Given the description of an element on the screen output the (x, y) to click on. 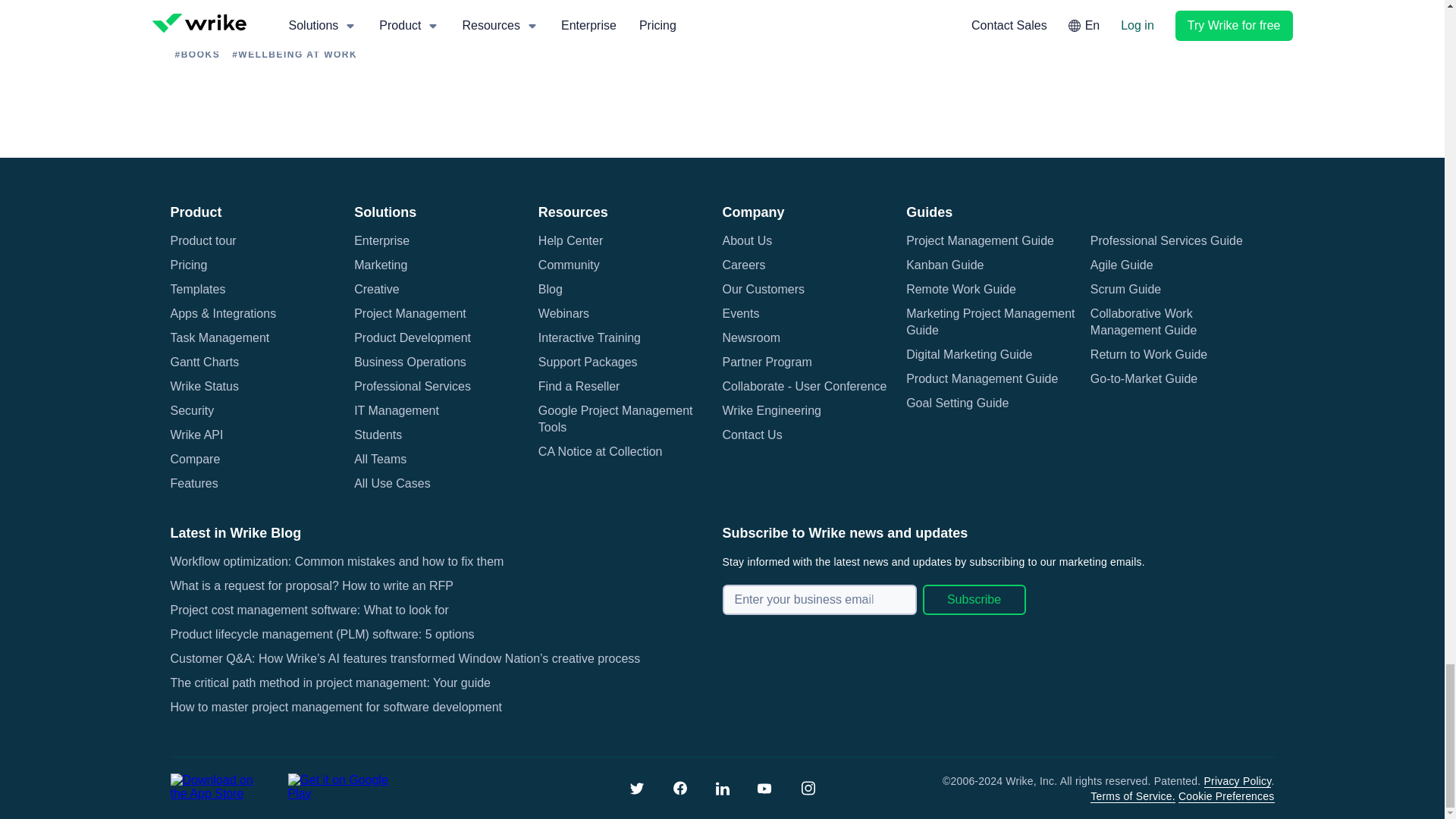
Product Development (411, 337)
Wrike API (196, 435)
Gantt Charts (204, 362)
Product tour (202, 241)
Templates (197, 289)
Features (193, 483)
Compare (194, 459)
Professional Services (411, 386)
Creative (375, 289)
Project Management (409, 313)
Enterprise (381, 241)
Wrike Status (204, 386)
Business Operations (409, 362)
Pricing (188, 265)
Security (192, 410)
